Given the description of an element on the screen output the (x, y) to click on. 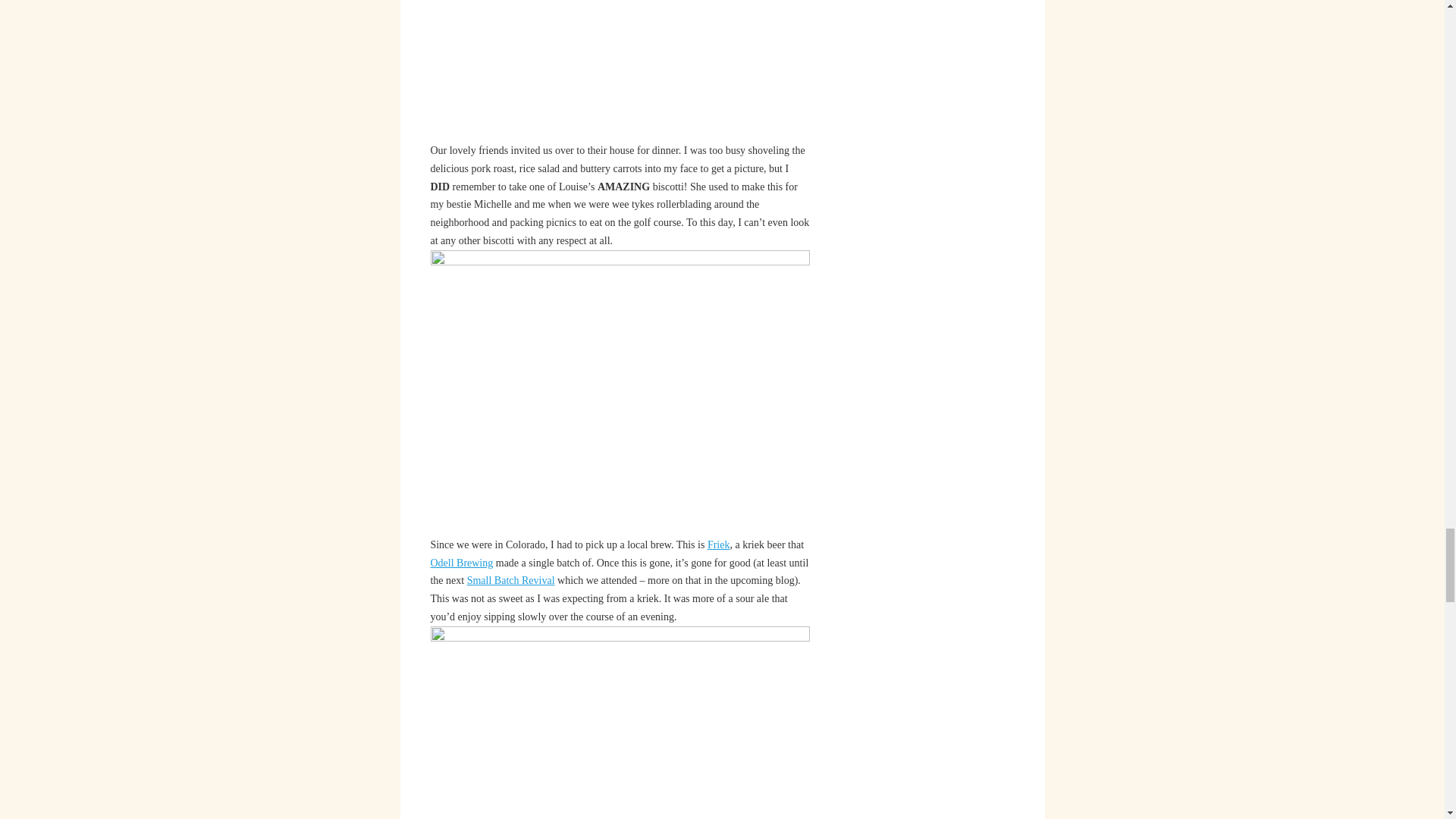
Odell Brewing (461, 562)
Friek (718, 544)
am2 (619, 722)
am3 (619, 392)
Small Batch Revival (510, 580)
AM1 (619, 70)
